Given the description of an element on the screen output the (x, y) to click on. 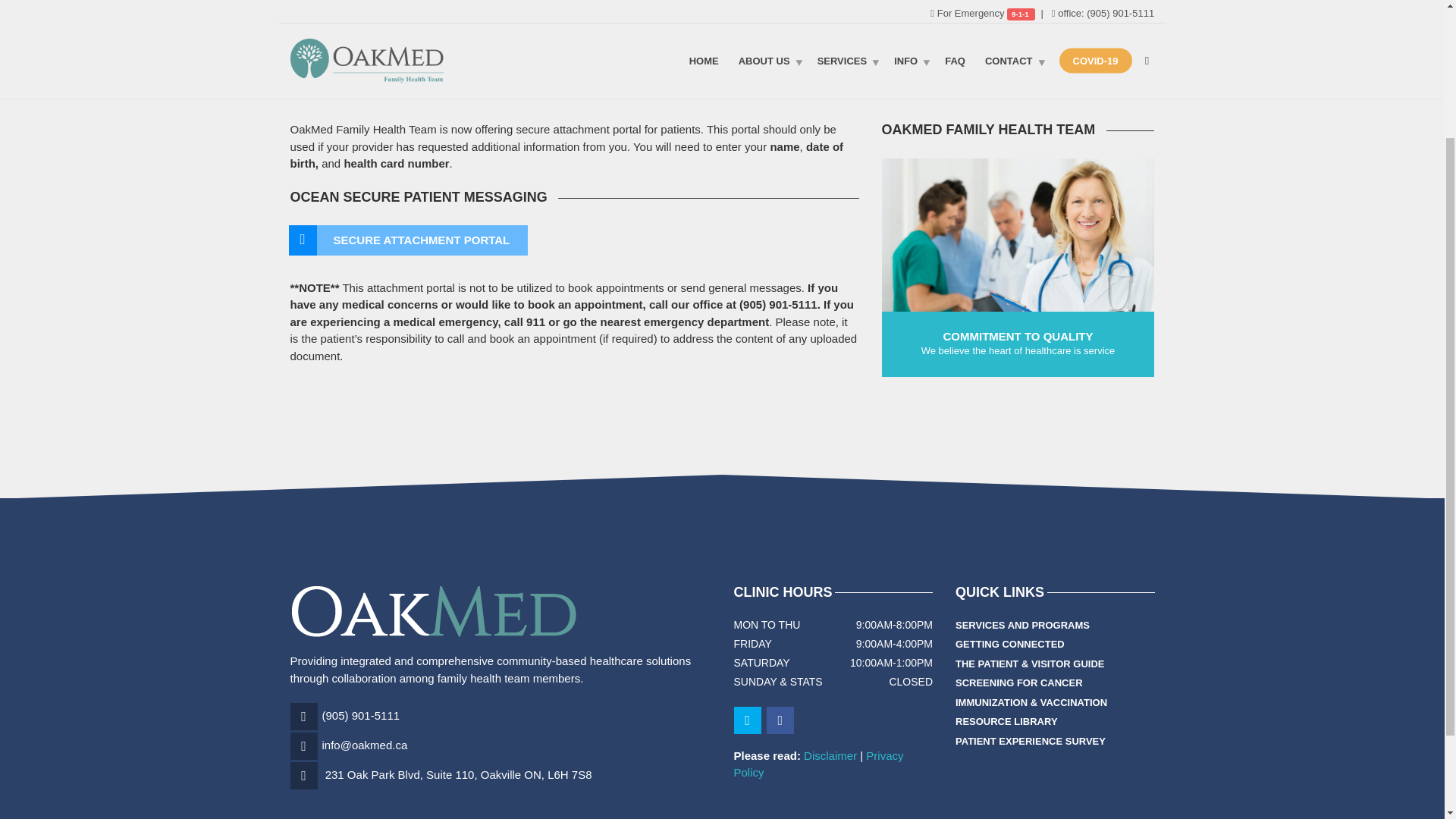
231 Oak Park Blvd, Suite 110, Oakville ON, L6H 7S8 (458, 774)
Disclaimer (830, 755)
Privacy Policy (818, 764)
SERVICES AND PROGRAMS (1022, 625)
SECURE ATTACHMENT PORTAL (408, 240)
